Given the description of an element on the screen output the (x, y) to click on. 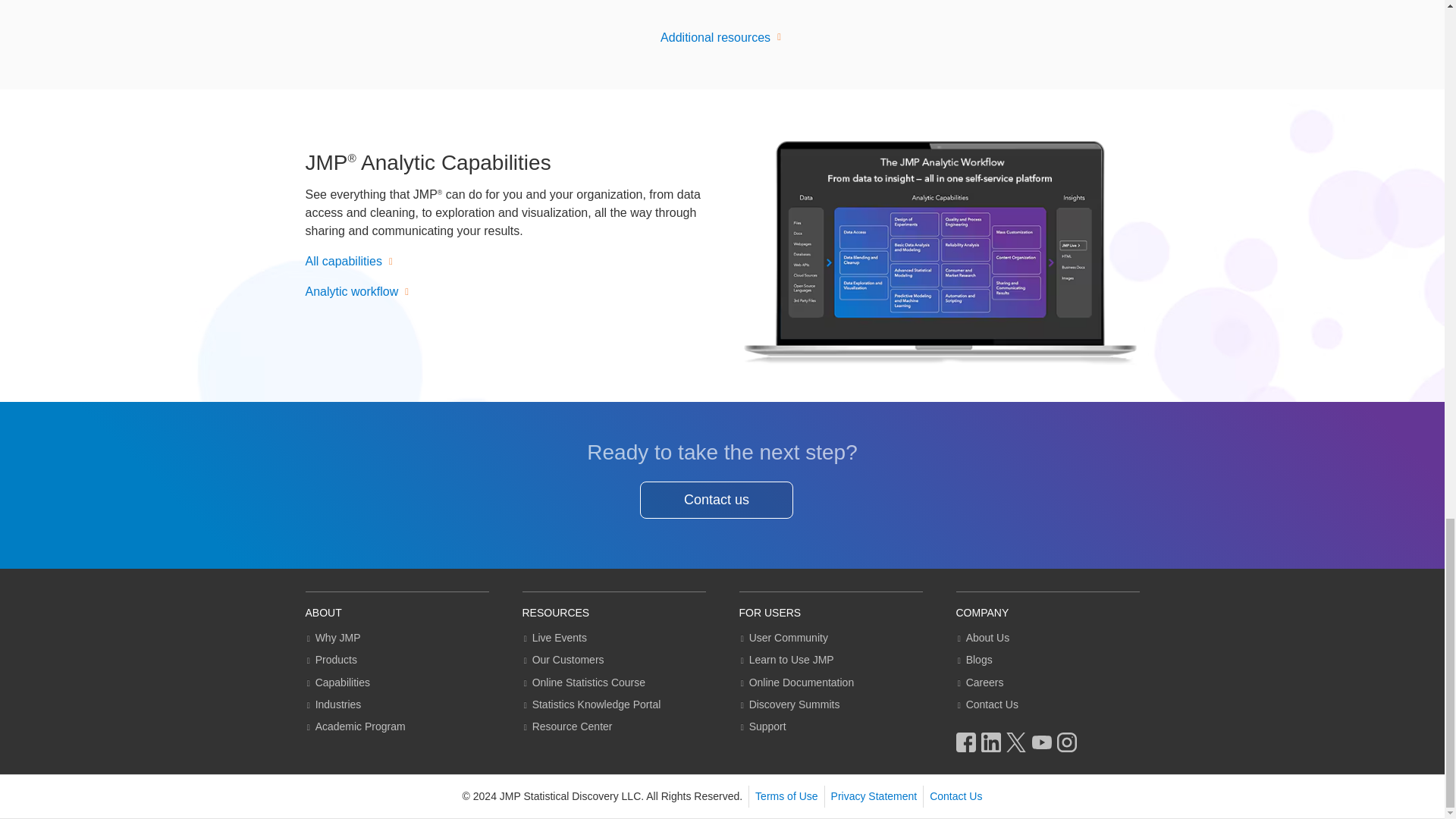
JMP Analytic Capabilities (938, 251)
